Given the description of an element on the screen output the (x, y) to click on. 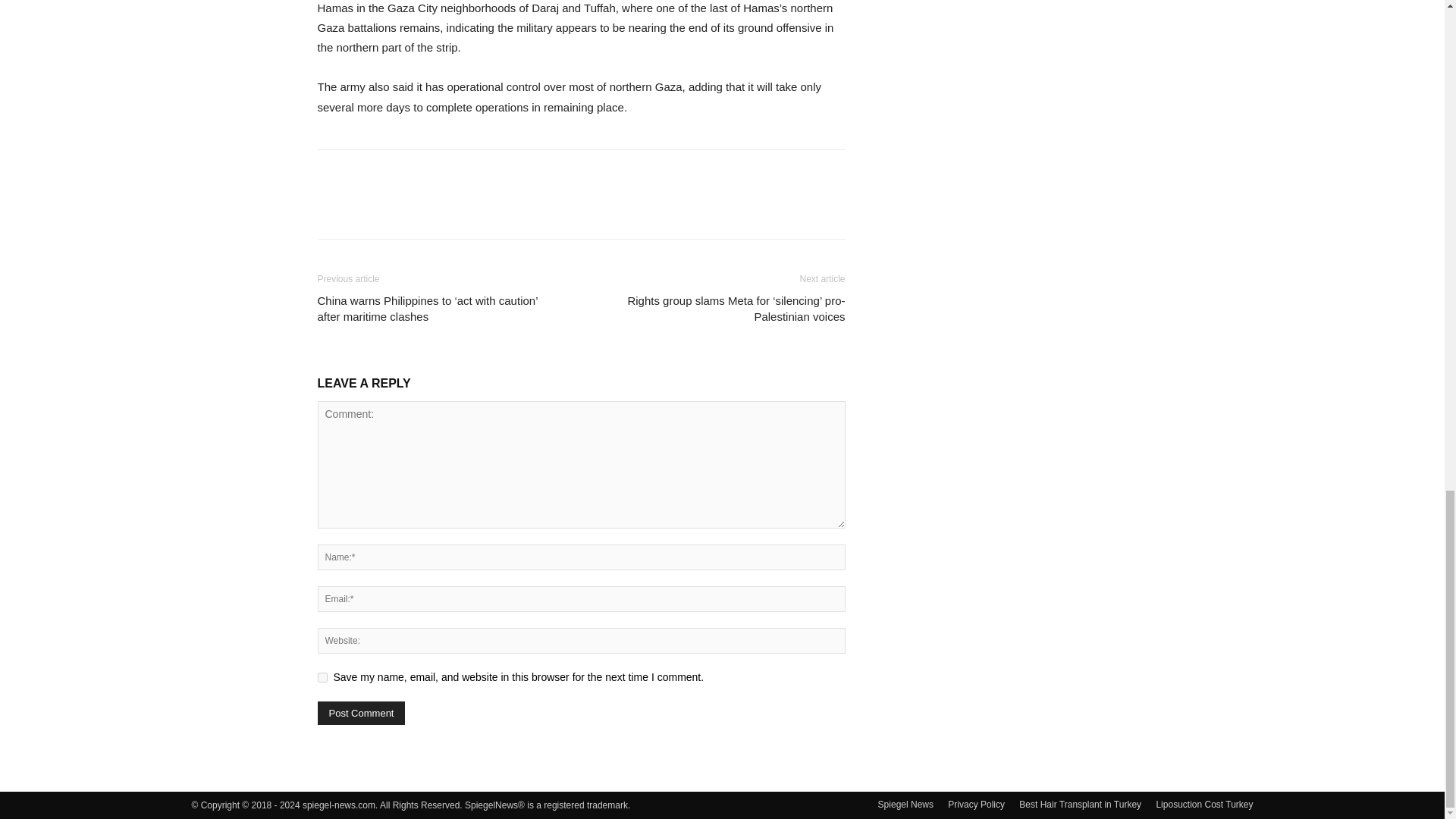
Post Comment (360, 712)
yes (321, 677)
Post Comment (360, 712)
Spiegel News (905, 804)
Privacy Policy (975, 804)
